Given the description of an element on the screen output the (x, y) to click on. 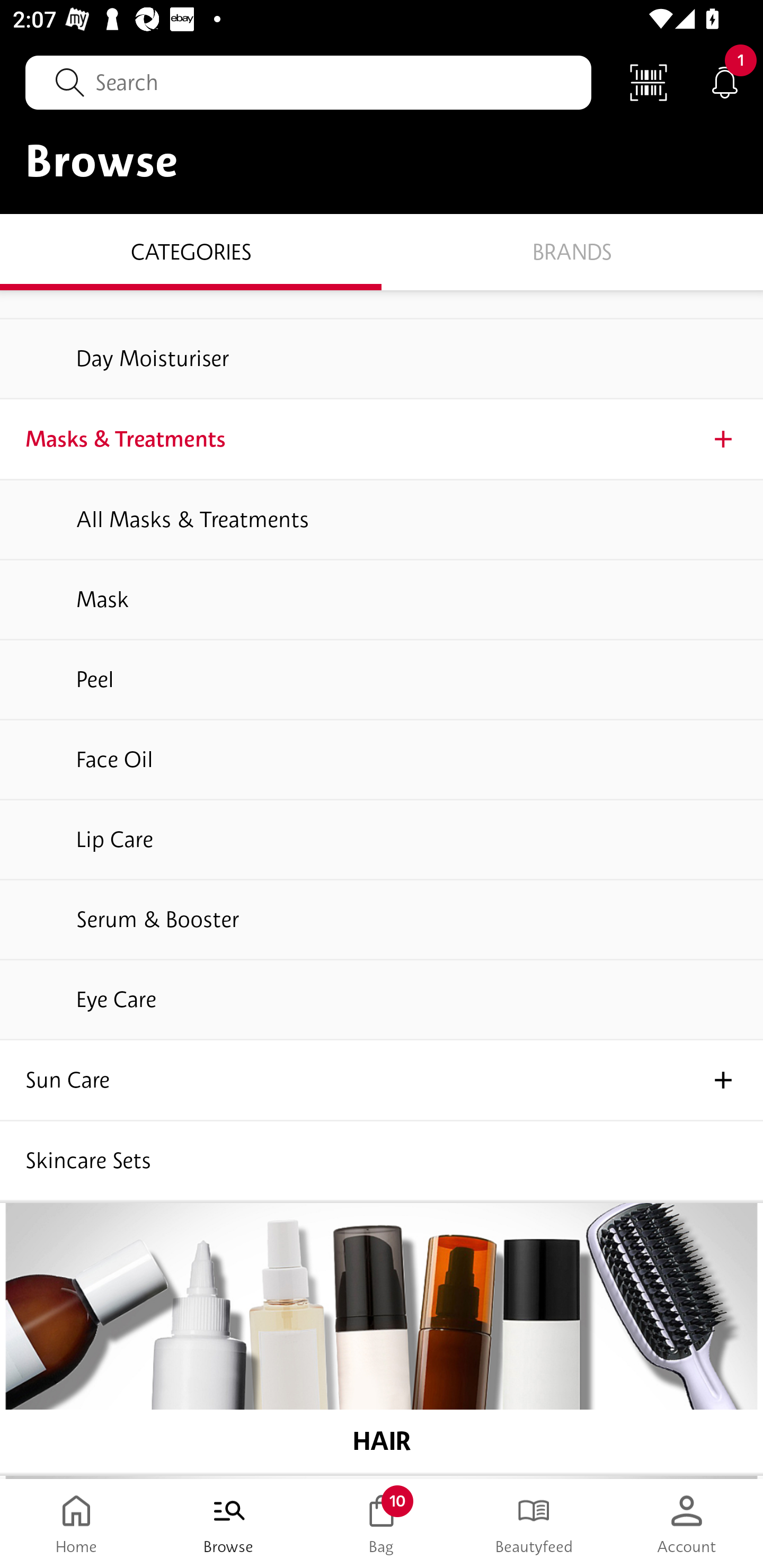
Scan Code (648, 81)
Notifications (724, 81)
Search (308, 81)
Brands BRANDS (572, 251)
Day Moisturiser (381, 359)
All Masks & Treatments (381, 519)
Mask (381, 599)
Peel (381, 679)
Face Oil (381, 759)
Lip Care (381, 839)
Serum & Booster (381, 919)
Eye Care (381, 1000)
Sun Care (381, 1081)
Skincare Sets (381, 1161)
HAIR (381, 1337)
Home (76, 1523)
Bag 10 Bag (381, 1523)
Beautyfeed (533, 1523)
Account (686, 1523)
